Given the description of an element on the screen output the (x, y) to click on. 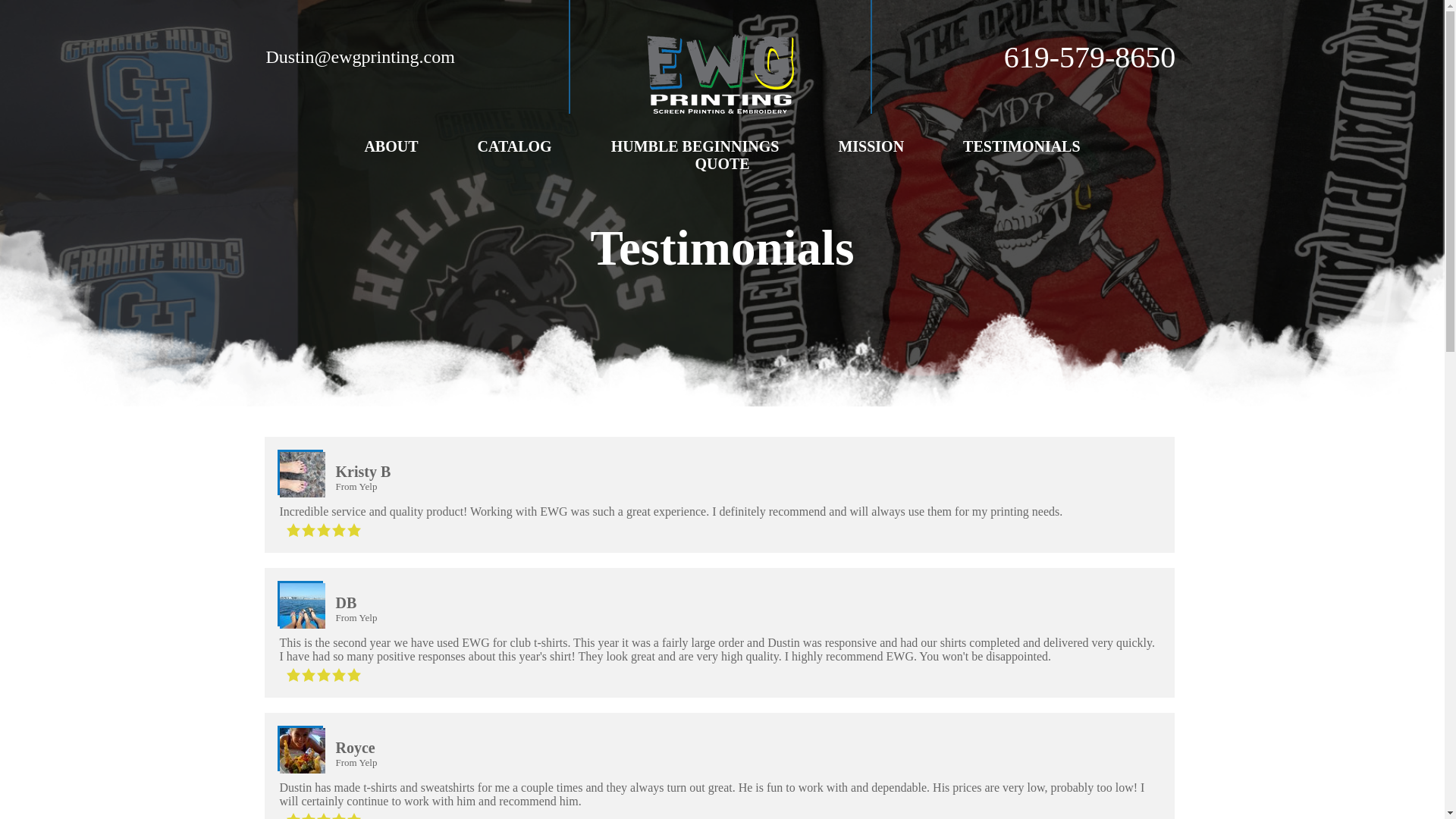
CATALOG (514, 146)
QUOTE (721, 163)
TESTIMONIALS (1021, 146)
ABOUT (390, 146)
MISSION (871, 146)
HUMBLE BEGINNINGS (694, 146)
619-579-8650 (1090, 57)
